Given the description of an element on the screen output the (x, y) to click on. 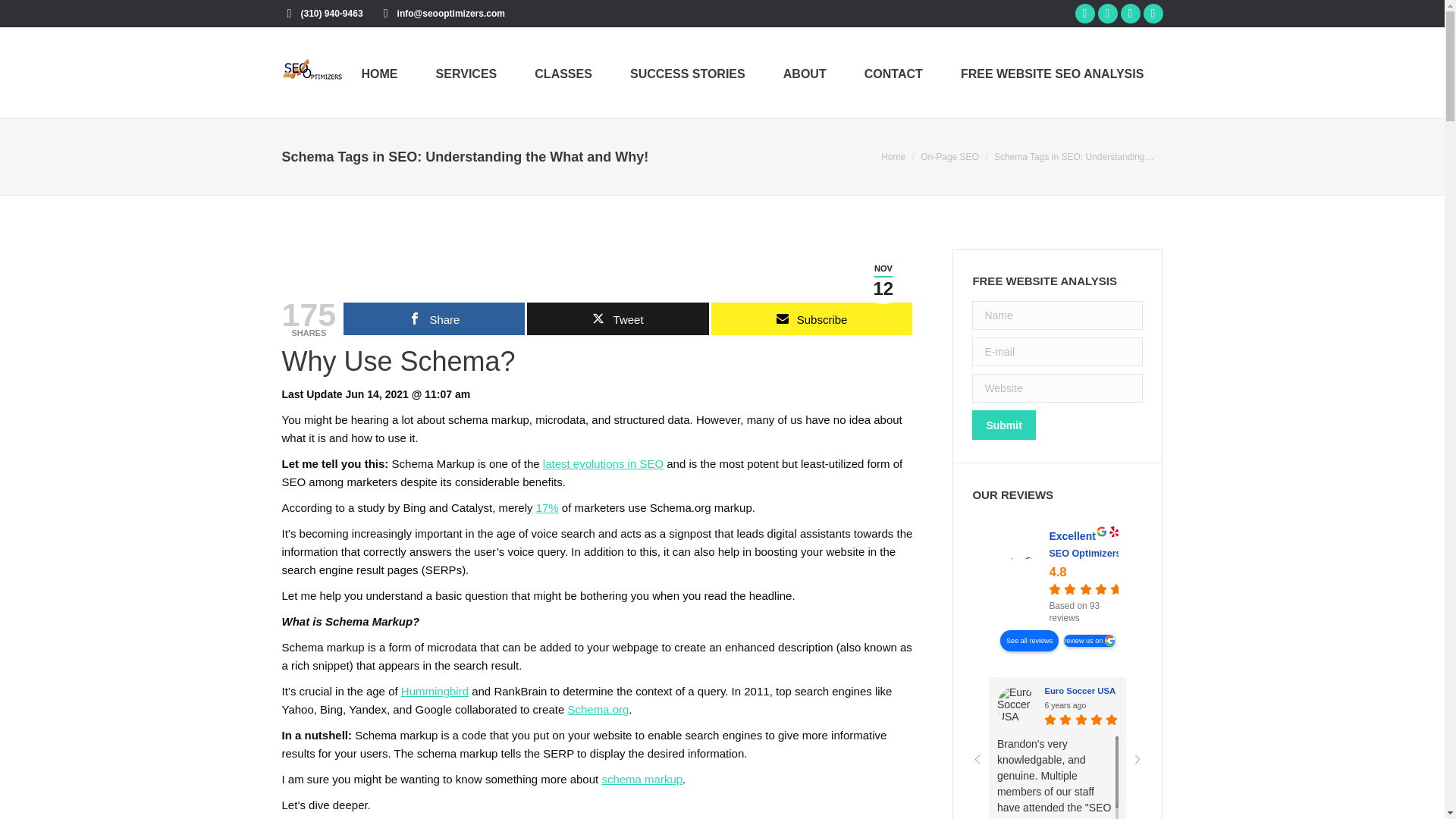
ABOUT (804, 72)
On-Page SEO (949, 156)
Linkedin page opens in new window (1130, 13)
Facebook page opens in new window (1084, 13)
Subscribe (811, 318)
FREE WEBSITE SEO ANALYSIS (1052, 72)
SERVICES (466, 72)
